Given the description of an element on the screen output the (x, y) to click on. 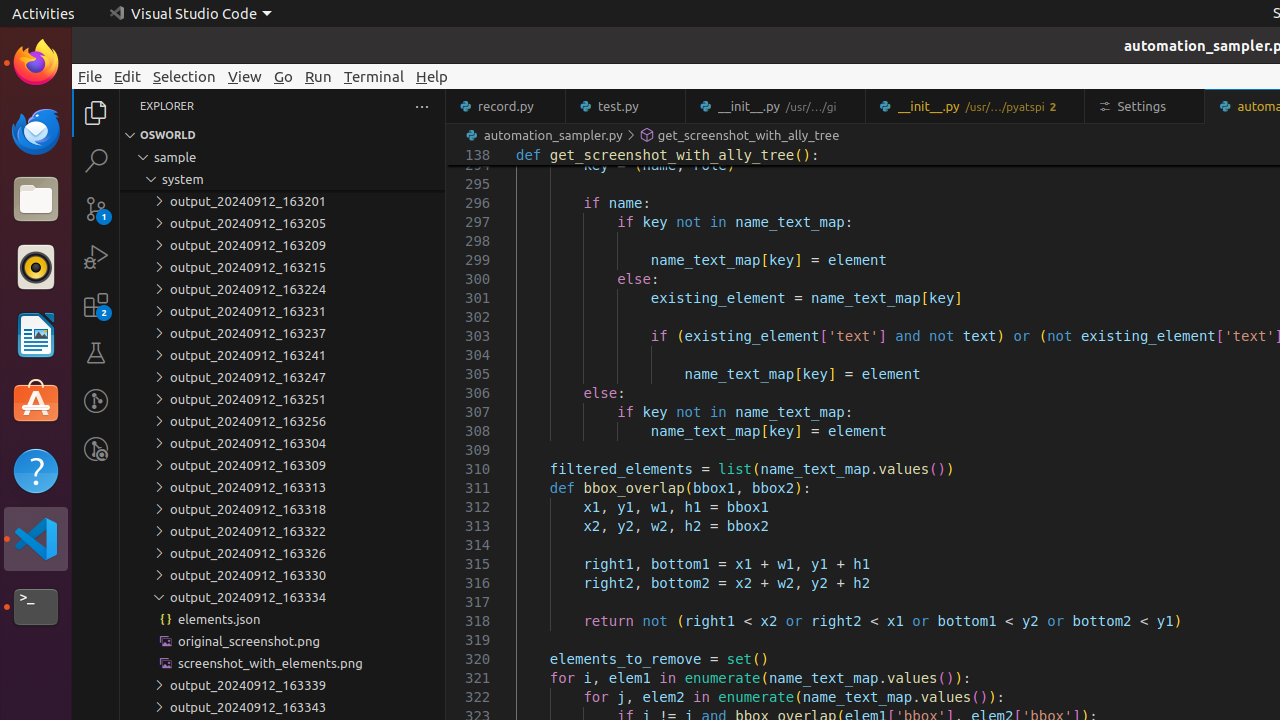
Testing Element type: page-tab (96, 353)
output_20240912_163326 Element type: tree-item (282, 553)
system Element type: tree-item (282, 179)
output_20240912_163339 Element type: tree-item (282, 685)
